Given the description of an element on the screen output the (x, y) to click on. 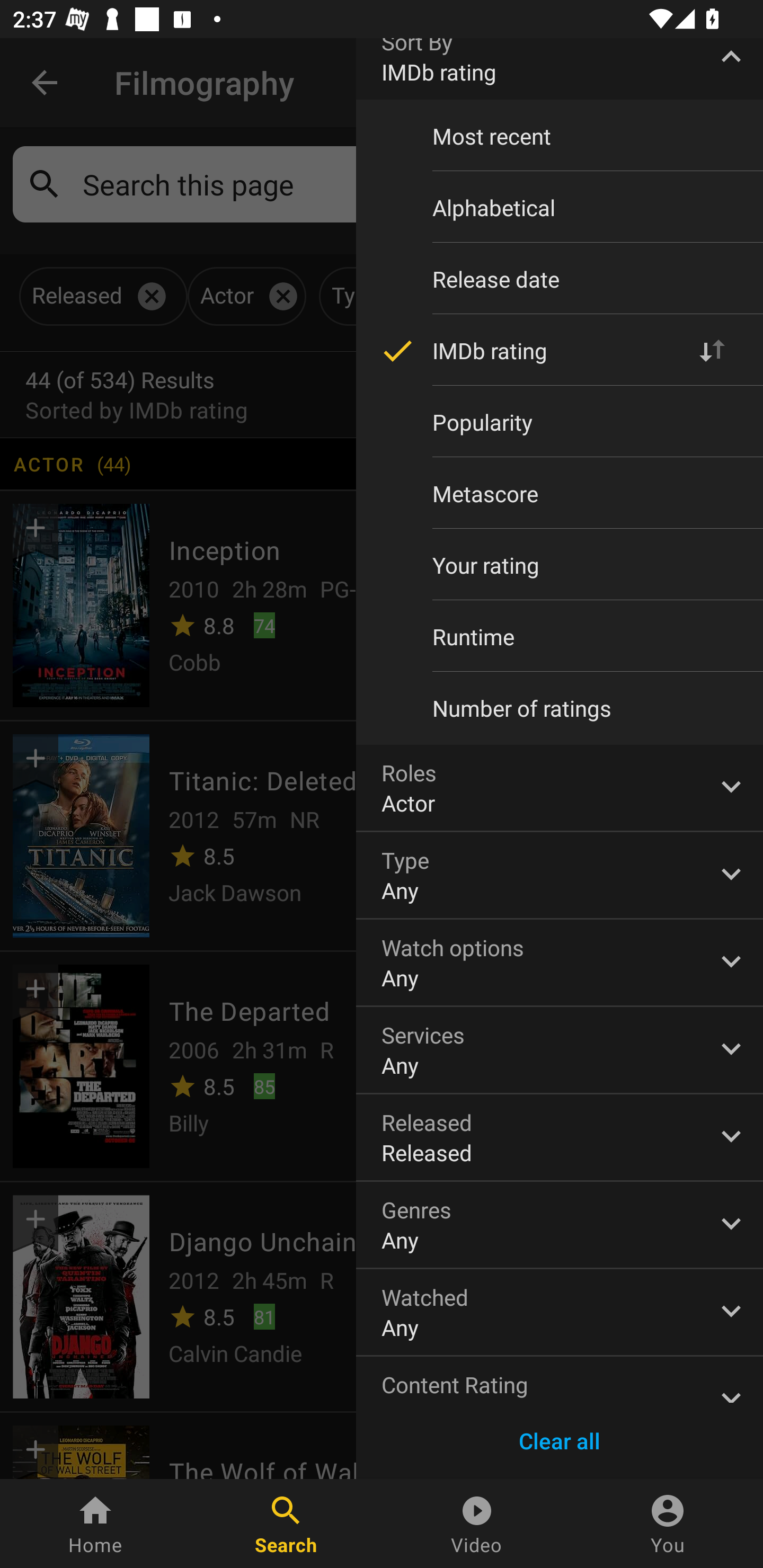
Sort By IMDb rating (559, 68)
Most recent (559, 135)
Alphabetical (559, 207)
Release date (559, 278)
IMDb rating (559, 350)
Popularity (559, 422)
Metascore (559, 493)
Your rating (559, 564)
Runtime (559, 636)
Number of ratings (559, 707)
Roles Actor (559, 787)
Type Any (559, 874)
Watch options Any (559, 961)
Services Any (559, 1049)
Released (559, 1137)
Genres Any (559, 1224)
Watched Any (559, 1311)
Content Rating Any (559, 1379)
Clear all (559, 1440)
Home (95, 1523)
Video (476, 1523)
You (667, 1523)
